Given the description of an element on the screen output the (x, y) to click on. 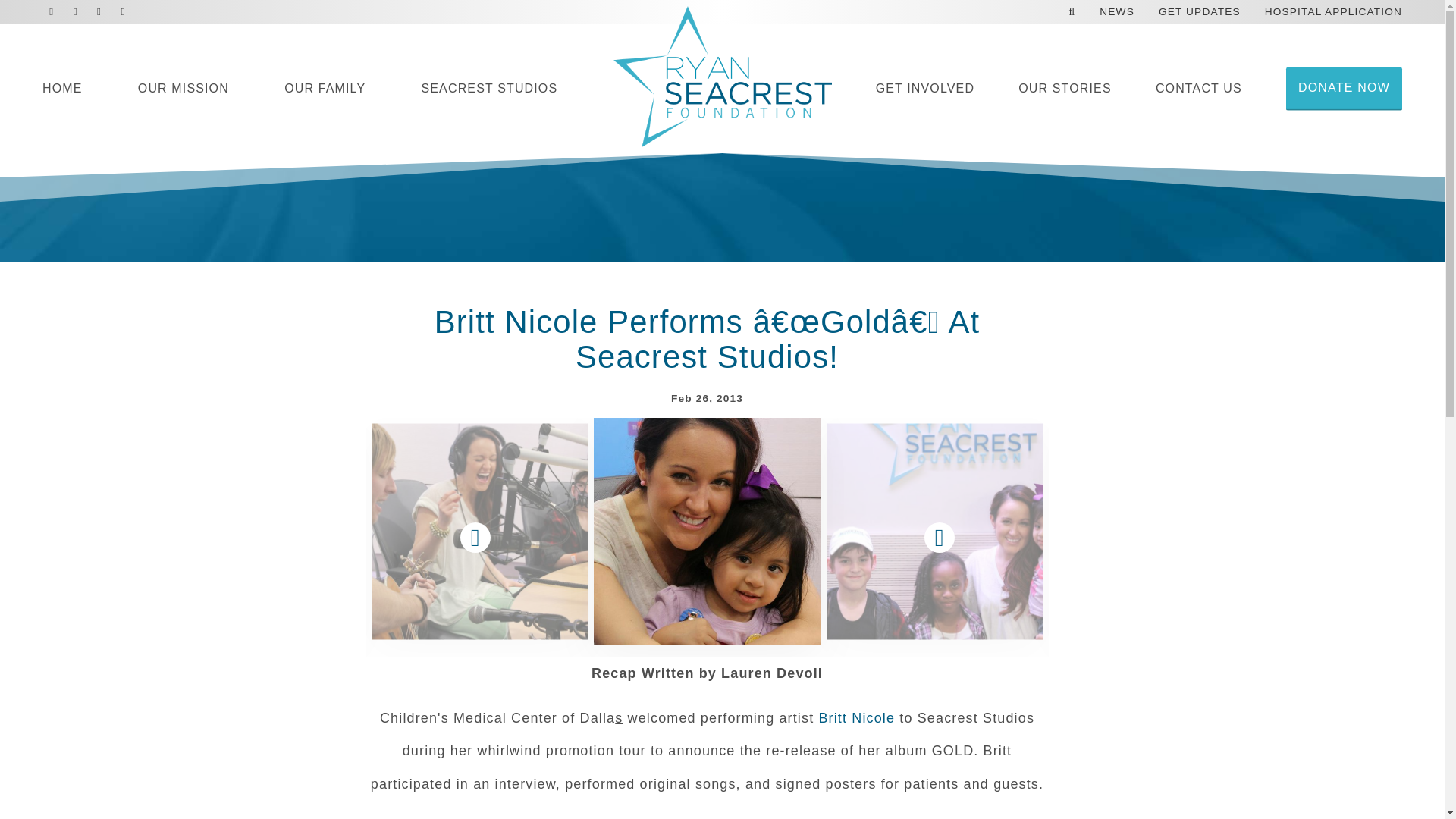
OUR STORIES (1064, 88)
NEWS (1116, 15)
Next (938, 537)
CONTACT US (1198, 88)
Youtube (122, 12)
Facebook (51, 12)
OUR MISSION (183, 88)
GET UPDATES (1199, 15)
Twitter (74, 12)
DONATE NOW (1343, 88)
SEACREST STUDIOS (489, 88)
GET INVOLVED (925, 88)
HOSPITAL APPLICATION (1333, 15)
Previous (474, 537)
OUR FAMILY (324, 88)
